Given the description of an element on the screen output the (x, y) to click on. 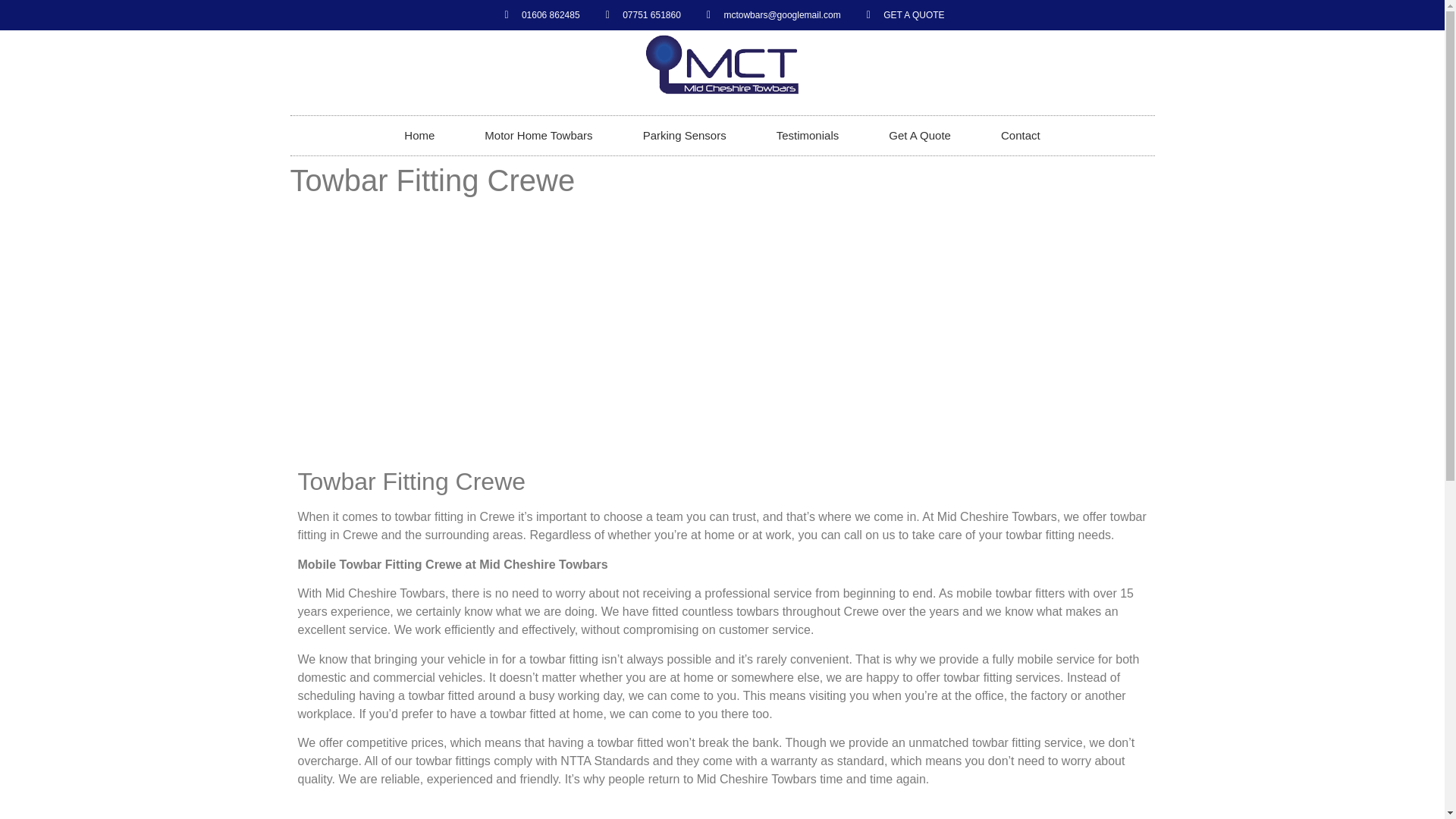
Home (419, 135)
GET A QUOTE (902, 15)
Motor Home Towbars (538, 135)
Testimonials (807, 135)
Contact (1020, 135)
Parking Sensors (684, 135)
Get A Quote (919, 135)
